Given the description of an element on the screen output the (x, y) to click on. 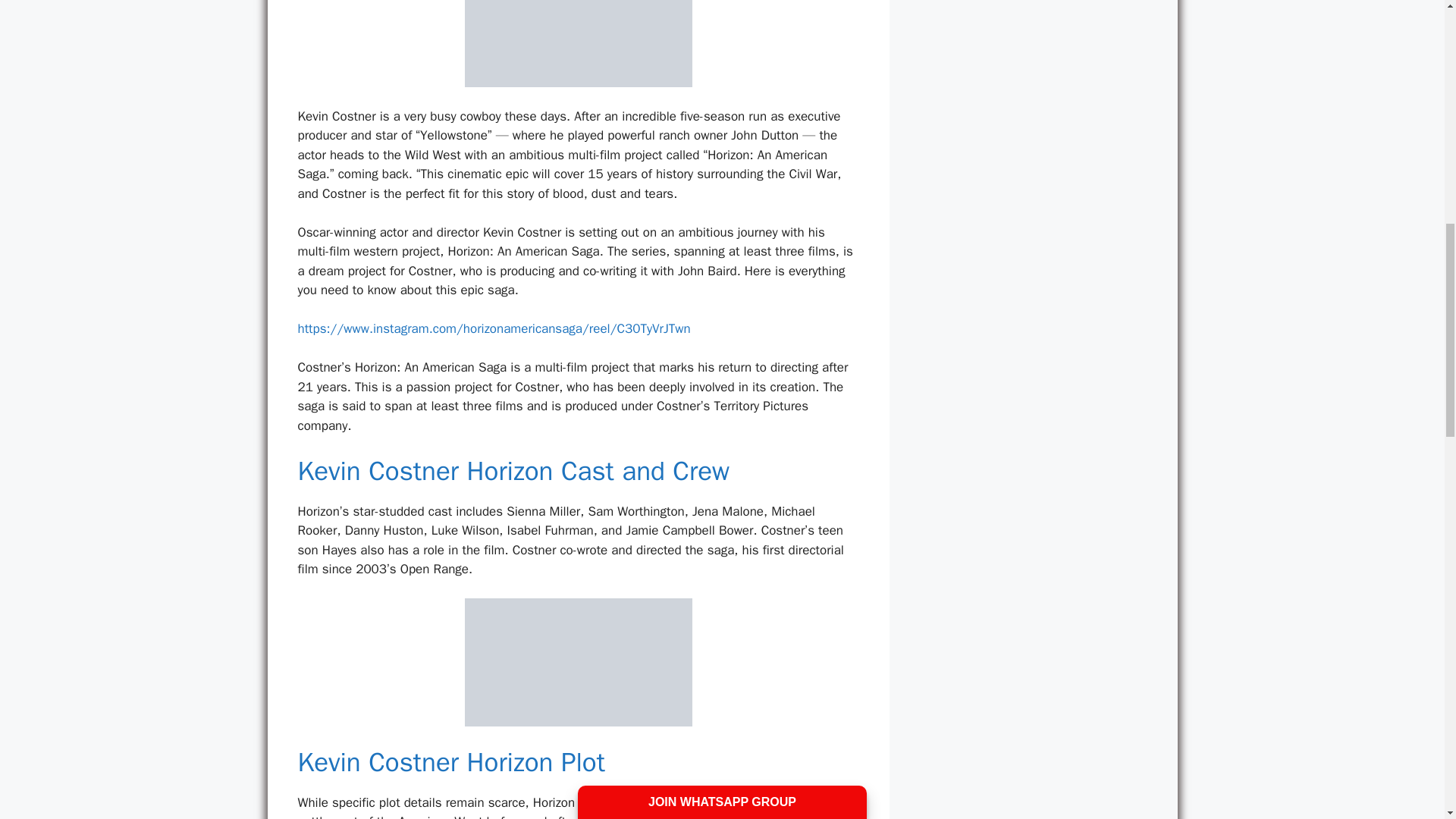
Kevin Costner Horizon Cast and Crew (513, 470)
Kevin Costner Horizon Plot (450, 761)
